Given the description of an element on the screen output the (x, y) to click on. 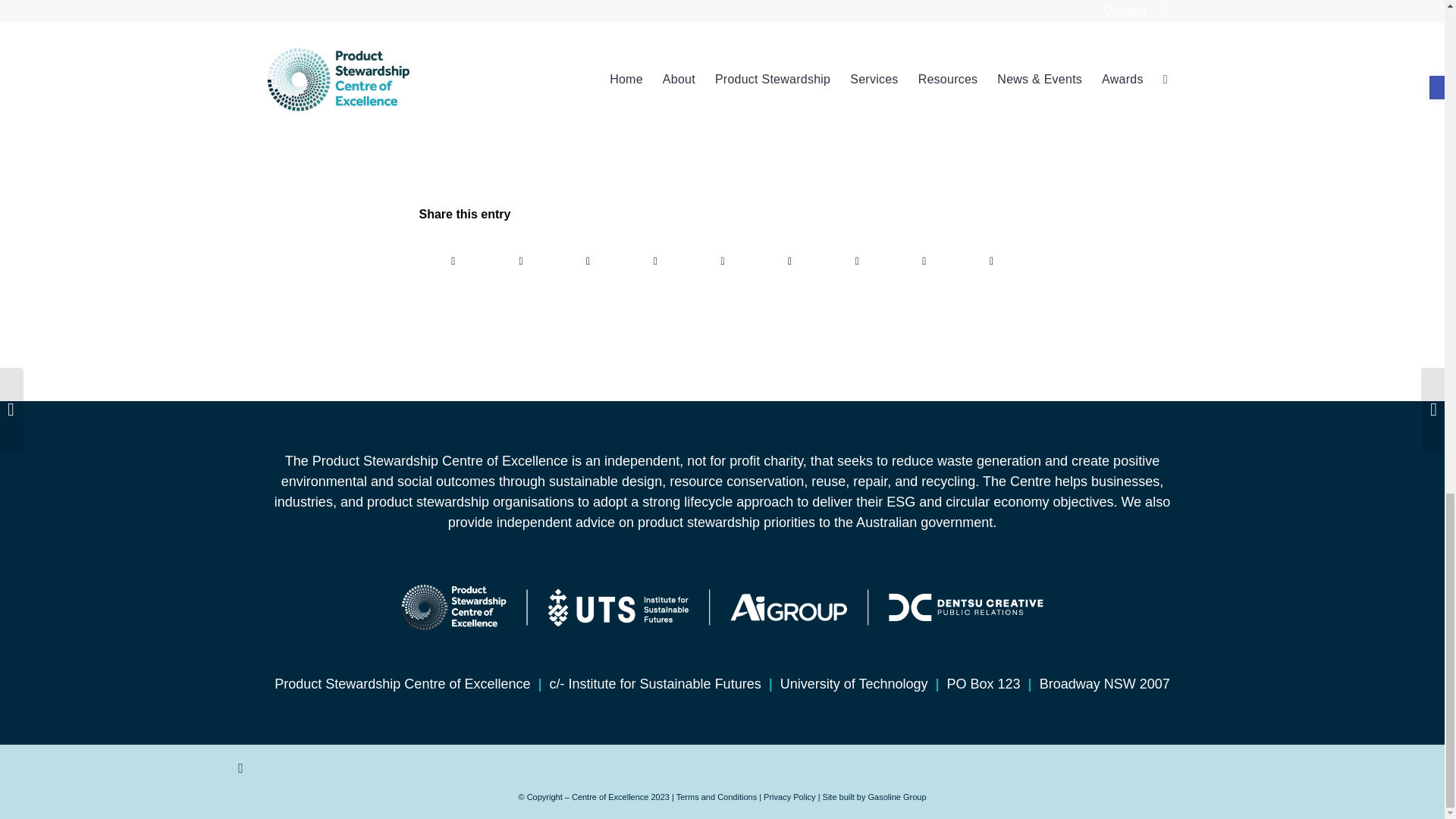
COE-footer-logo-lockup- (721, 607)
